Given the description of an element on the screen output the (x, y) to click on. 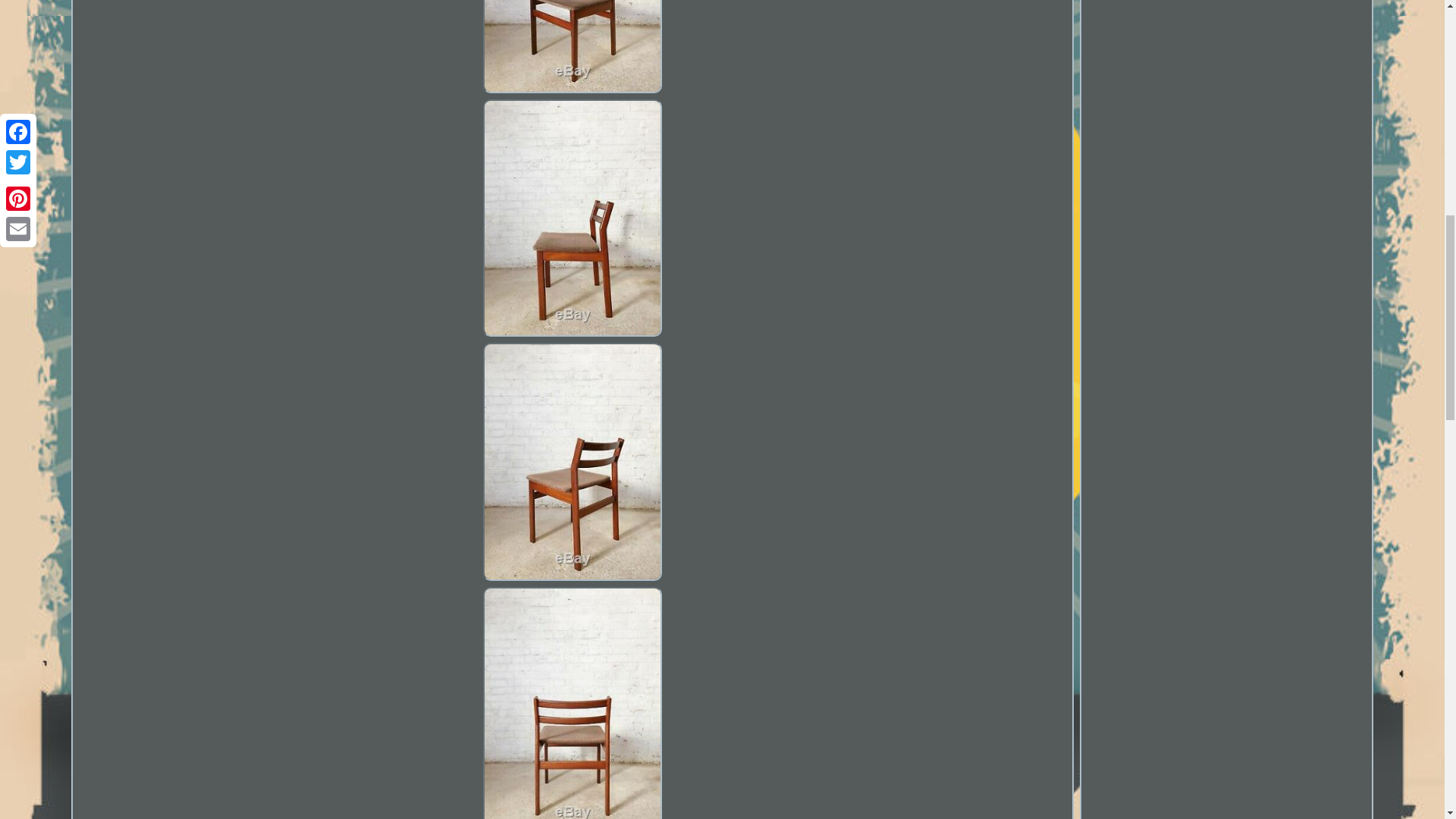
Set Of Four Mid Century Teak Meredew Dining Chairs Vintage (571, 48)
Set Of Four Mid Century Teak Meredew Dining Chairs VINTAGE (572, 46)
